Given the description of an element on the screen output the (x, y) to click on. 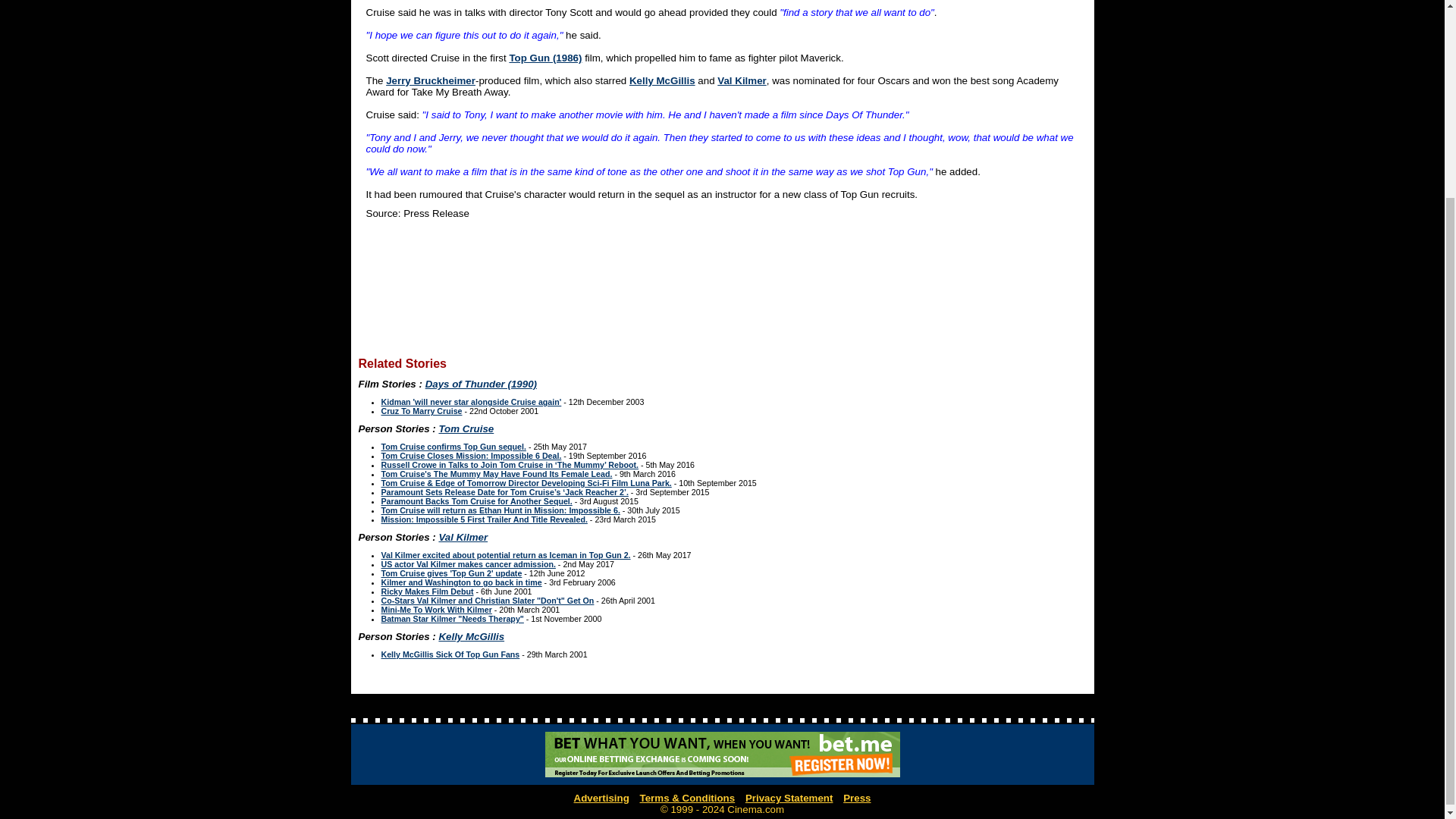
Tom Cruise confirms Top Gun sequel. (452, 446)
Ricky Makes Film Debut (426, 591)
Kidman 'will never star alongside Cruise again' (470, 401)
Batman Star Kilmer "Needs Therapy" (451, 618)
Kilmer and Washington to go back in time (460, 582)
Tom Cruise (465, 428)
Cruz To Marry Cruise (420, 410)
Mini-Me To Work With Kilmer (436, 609)
Advertisement (721, 287)
Kelly McGillis Sick Of Top Gun Fans (449, 654)
Kelly McGillis (661, 80)
Advertising (600, 797)
Co-Stars Val Kilmer and Christian Slater "Don't" Get On (487, 600)
